Given the description of an element on the screen output the (x, y) to click on. 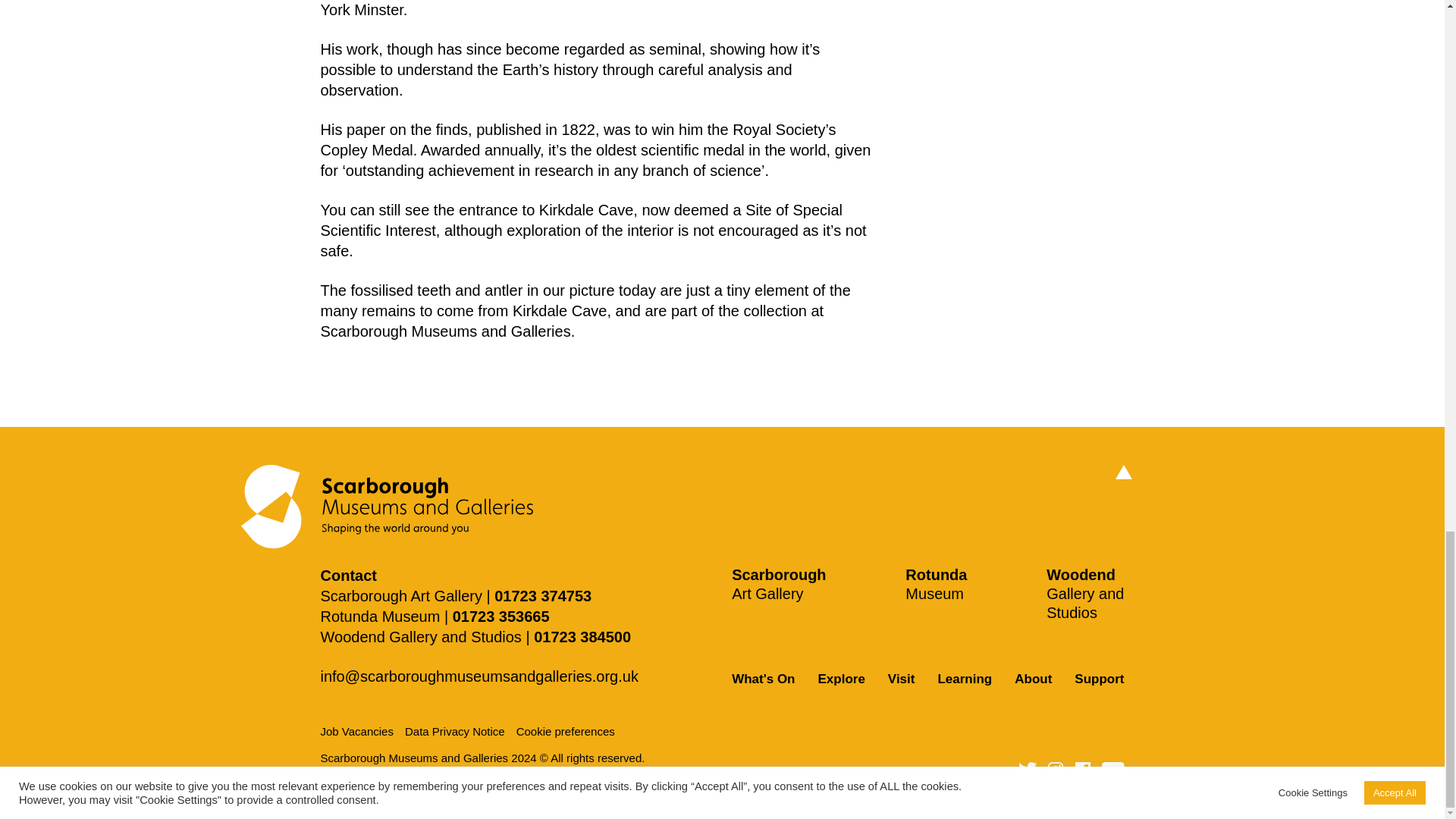
Return to the top of the page (1123, 472)
